Given the description of an element on the screen output the (x, y) to click on. 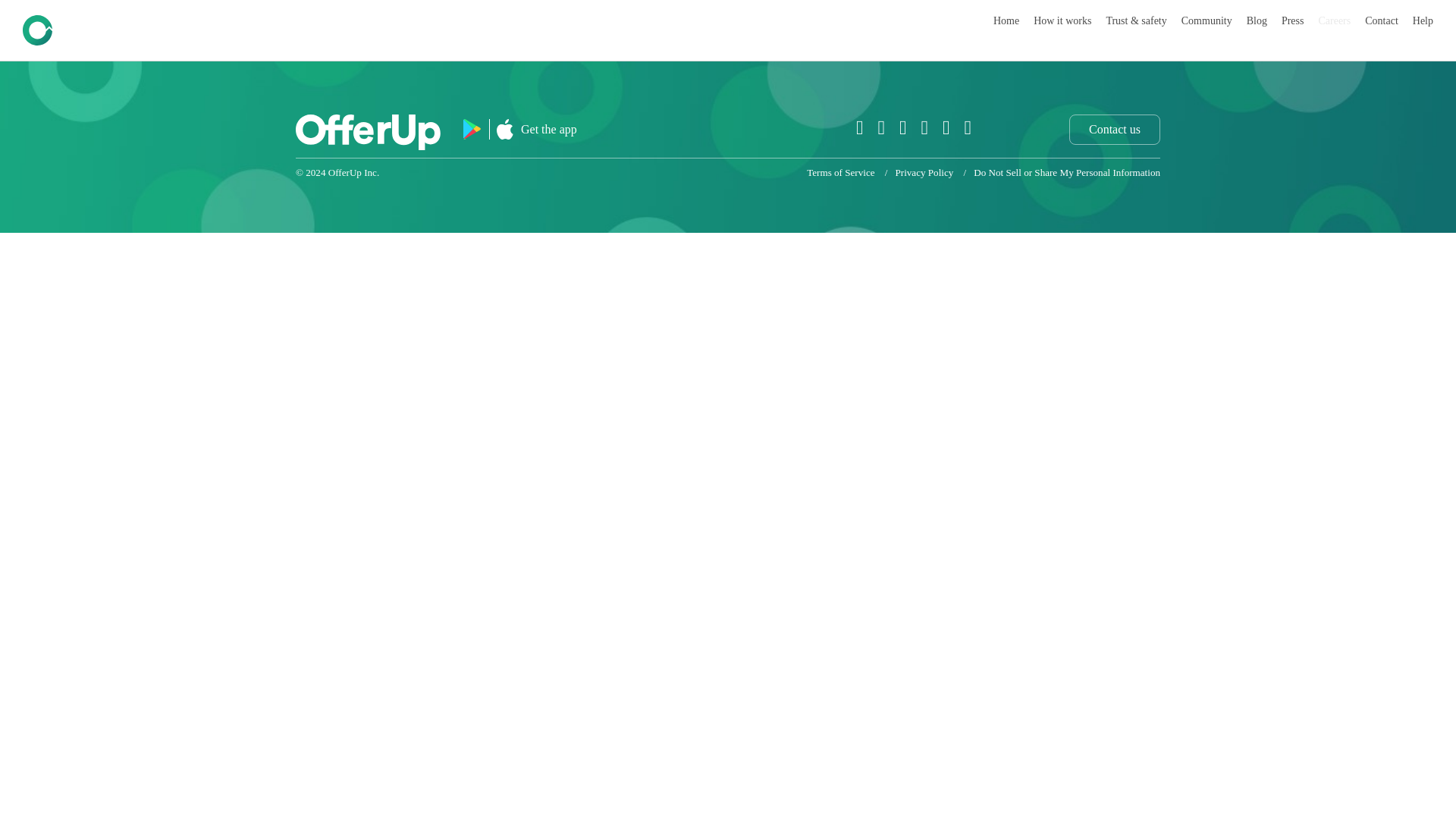
Contact (1381, 20)
Community (1205, 20)
Contact us (1114, 129)
How it works (1061, 20)
Help (1422, 20)
Careers (1334, 20)
Press (1292, 20)
Blog (1256, 20)
Do Not Sell or Share My Personal Information (1067, 172)
Home (1005, 20)
Terms of Service (840, 172)
Privacy Policy (924, 172)
